Given the description of an element on the screen output the (x, y) to click on. 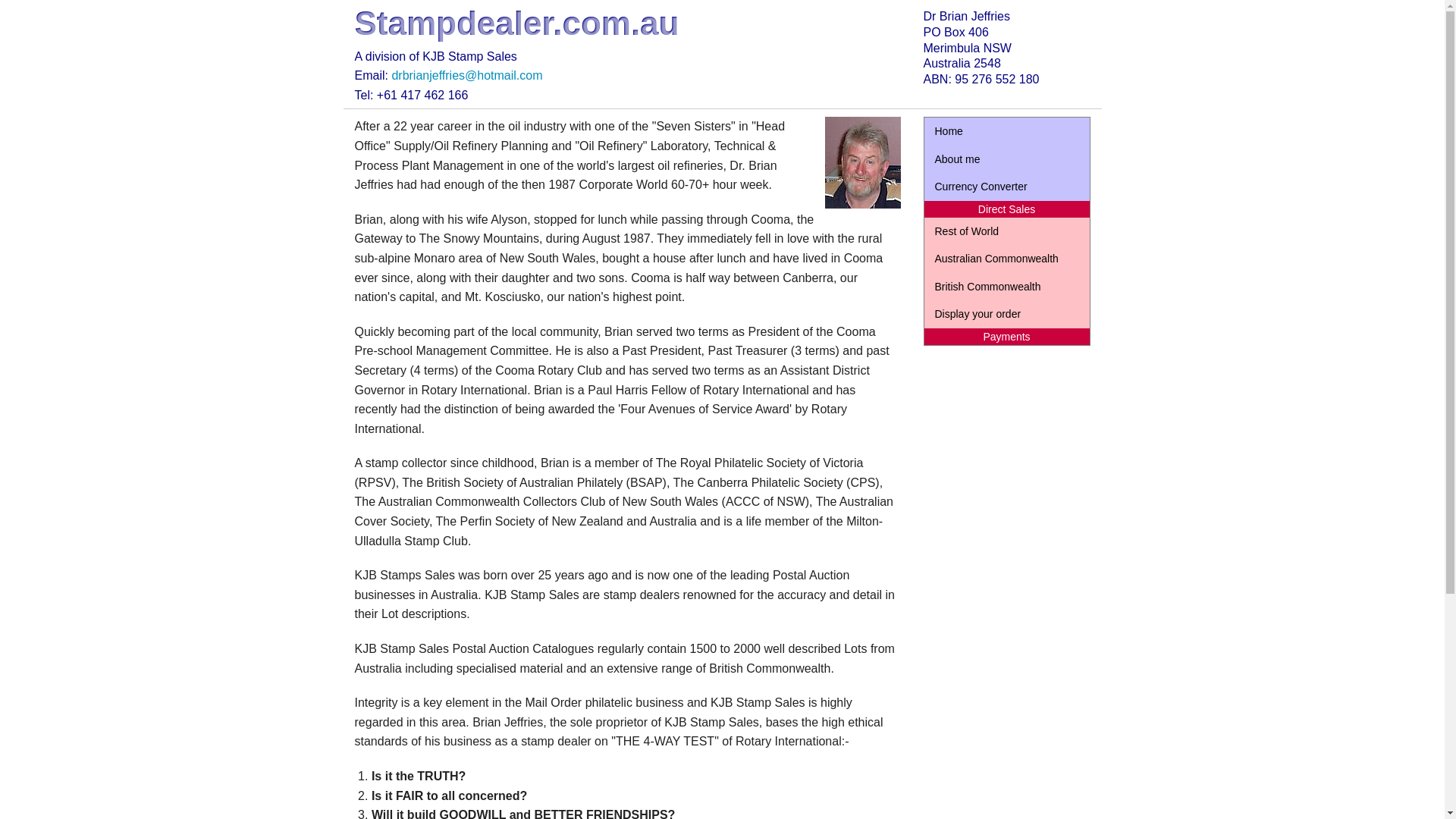
Australian Commonwealth (1006, 257)
Display your order (1006, 313)
Home (1006, 130)
British Commonwealth (1006, 286)
About me (1006, 158)
Currency Converter (1006, 185)
Rest of World (1006, 230)
